Given the description of an element on the screen output the (x, y) to click on. 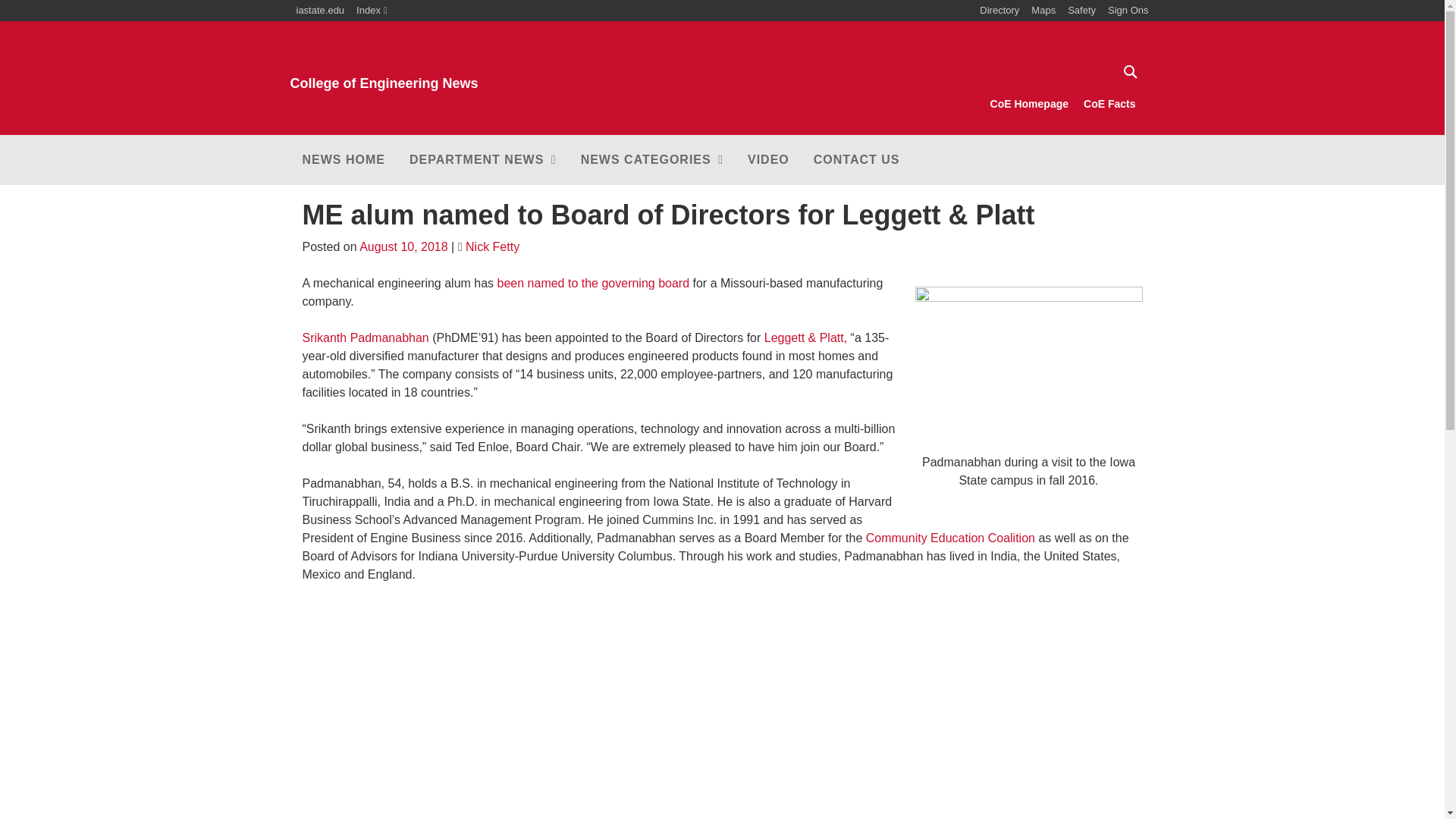
DEPARTMENT NEWS (425, 69)
CoE Homepage (483, 160)
Home (1028, 103)
Directory (425, 69)
iastate.edu (999, 10)
Maps (319, 10)
Sign Ons (1043, 10)
Search (1128, 10)
Safety (1128, 71)
NEWS HOME (1081, 10)
Index (342, 160)
CoE Facts (371, 10)
